Given the description of an element on the screen output the (x, y) to click on. 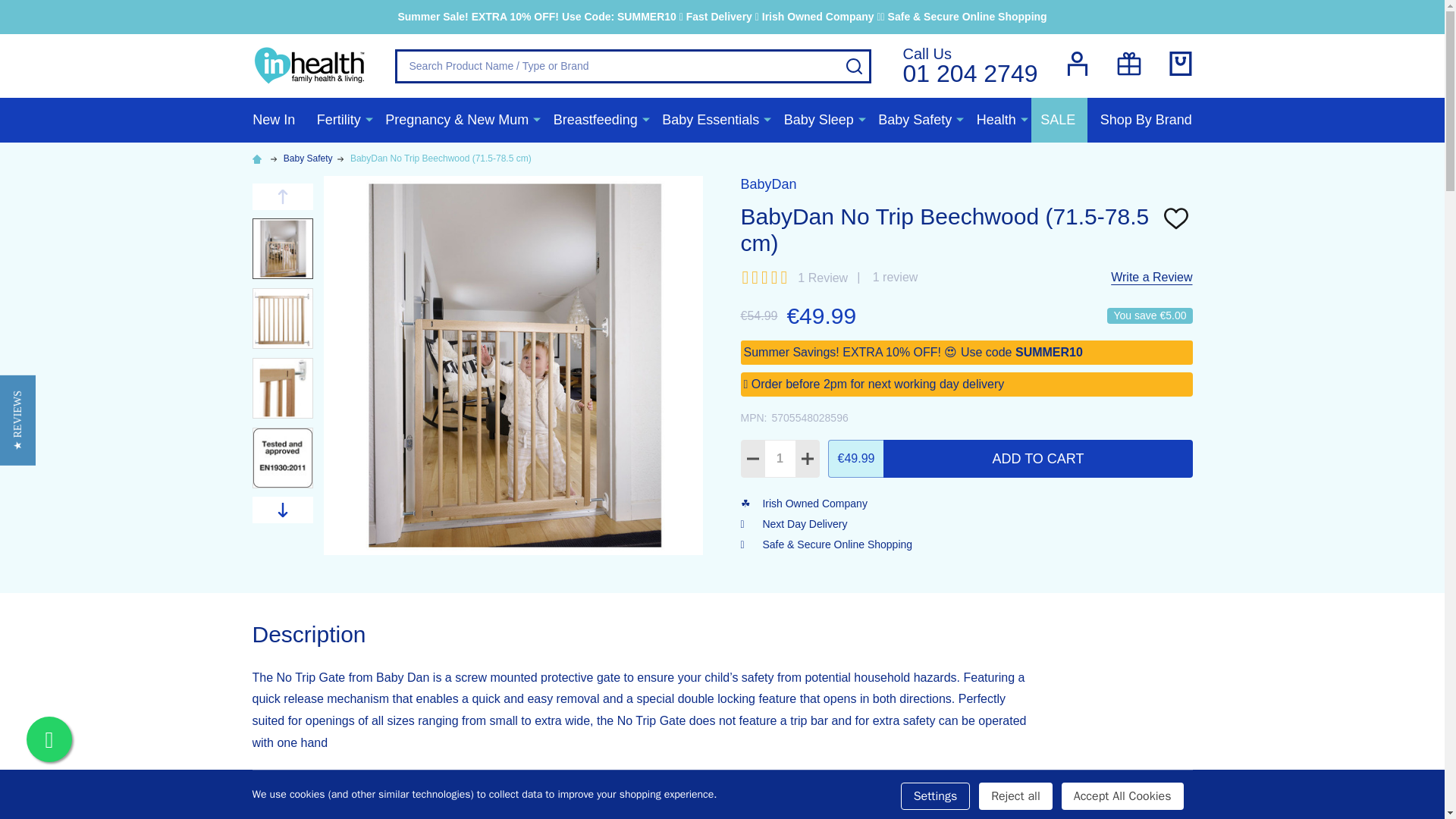
New In (273, 119)
InHealth.ie (308, 65)
Fertility (334, 119)
SEARCH (853, 65)
Cart (1179, 63)
Gift Certificates (970, 65)
Call Us: 01 204 2749 (1128, 65)
